Given the description of an element on the screen output the (x, y) to click on. 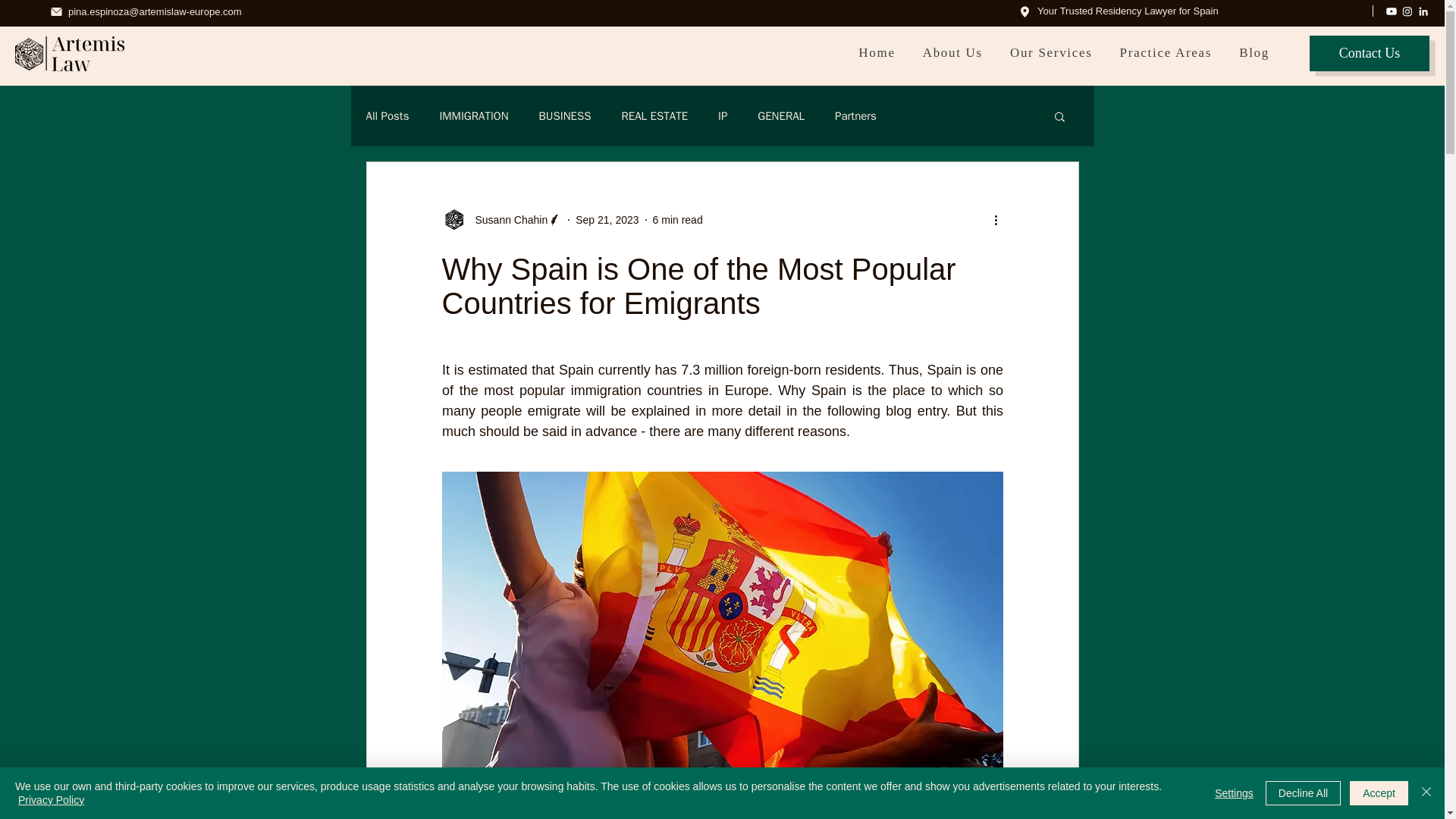
GENERAL (781, 115)
Blog (1254, 53)
REAL ESTATE (654, 115)
Our Services (1051, 53)
Susann Chahin (501, 219)
Home (877, 53)
IMMIGRATION (473, 115)
Contact Us (1368, 53)
Susann Chahin (506, 220)
Partners (855, 115)
BUSINESS (564, 115)
6 min read (677, 219)
All Posts (387, 115)
About Us (952, 53)
Sep 21, 2023 (607, 219)
